Given the description of an element on the screen output the (x, y) to click on. 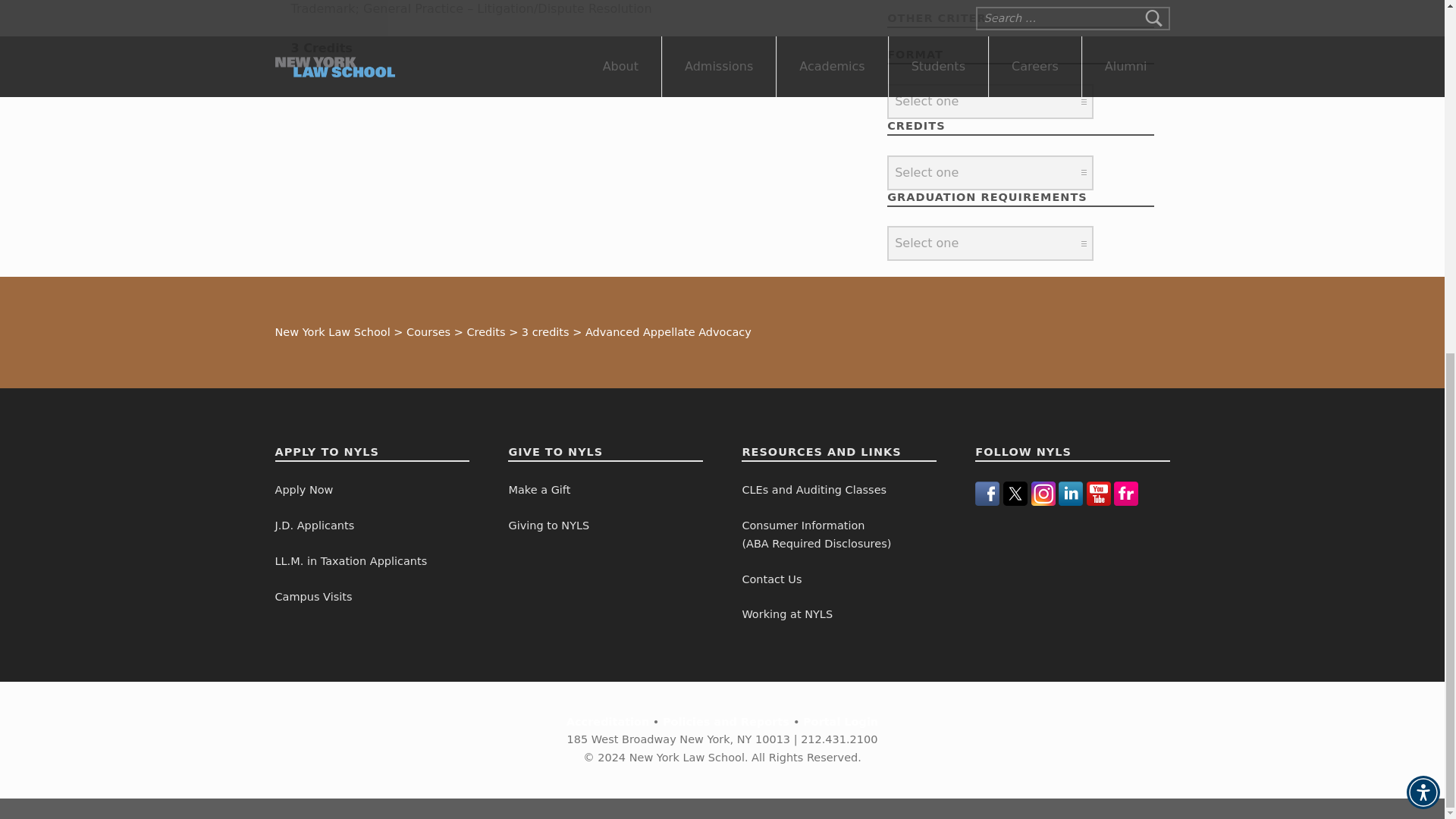
Go to the Credits category archives. (485, 331)
Accessibility Menu (1422, 175)
Go to the 3 credits category archives. (545, 331)
Go to New York Law School. (332, 331)
Go to the Courses category archives. (427, 331)
